Given the description of an element on the screen output the (x, y) to click on. 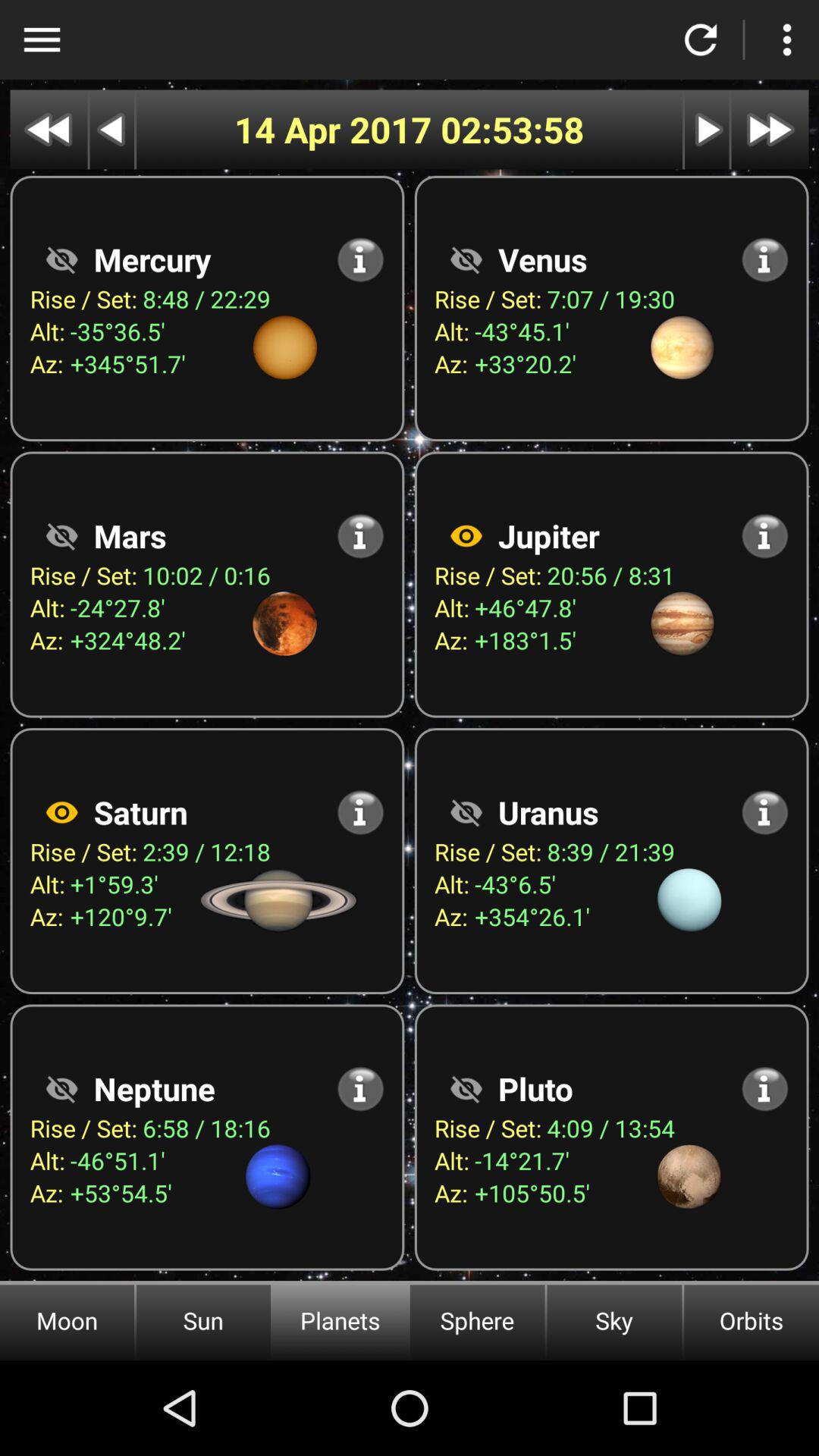
switch to open (61, 1088)
